Given the description of an element on the screen output the (x, y) to click on. 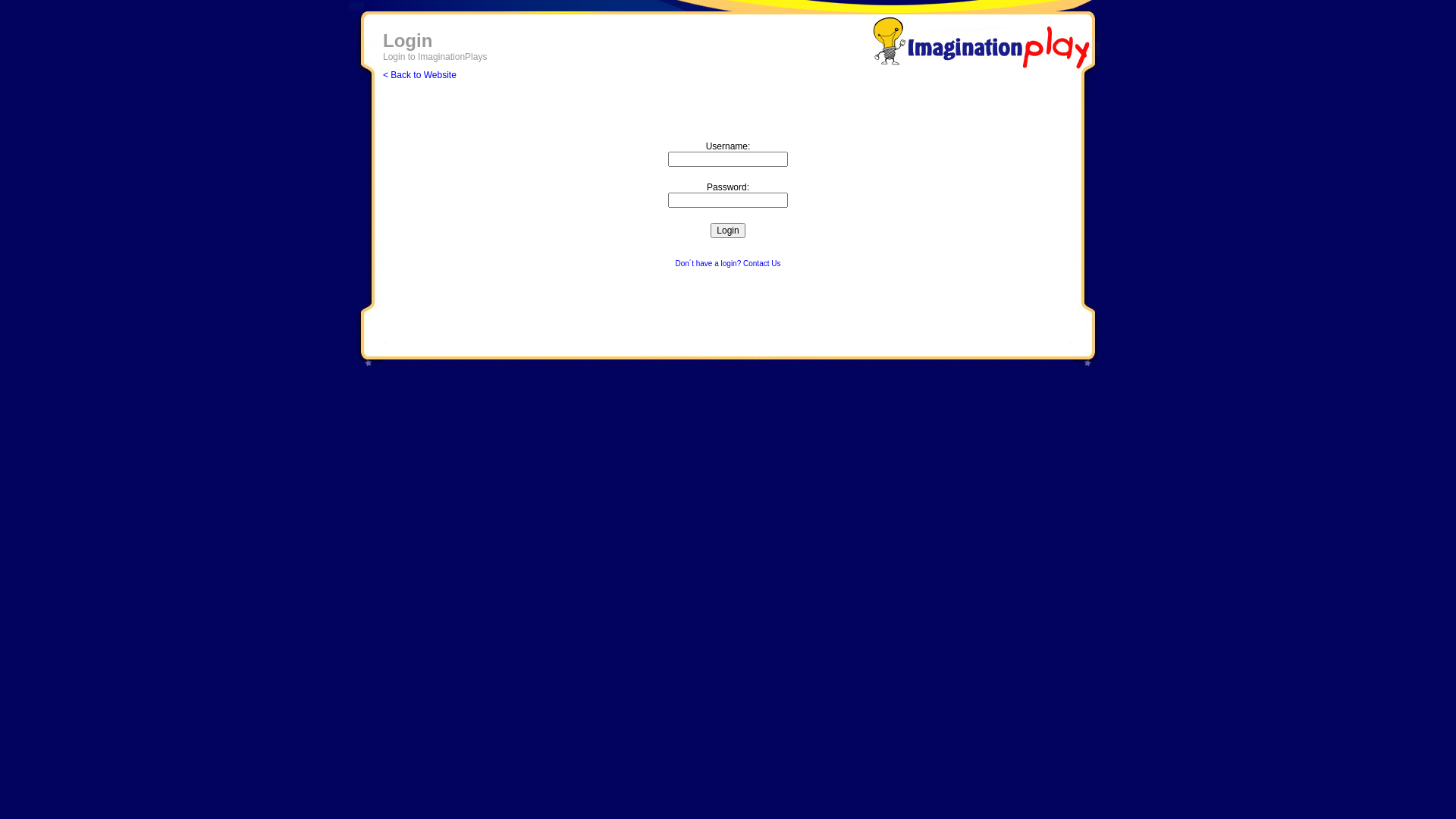
Login Element type: text (727, 230)
< Back to Website Element type: text (419, 74)
